Given the description of an element on the screen output the (x, y) to click on. 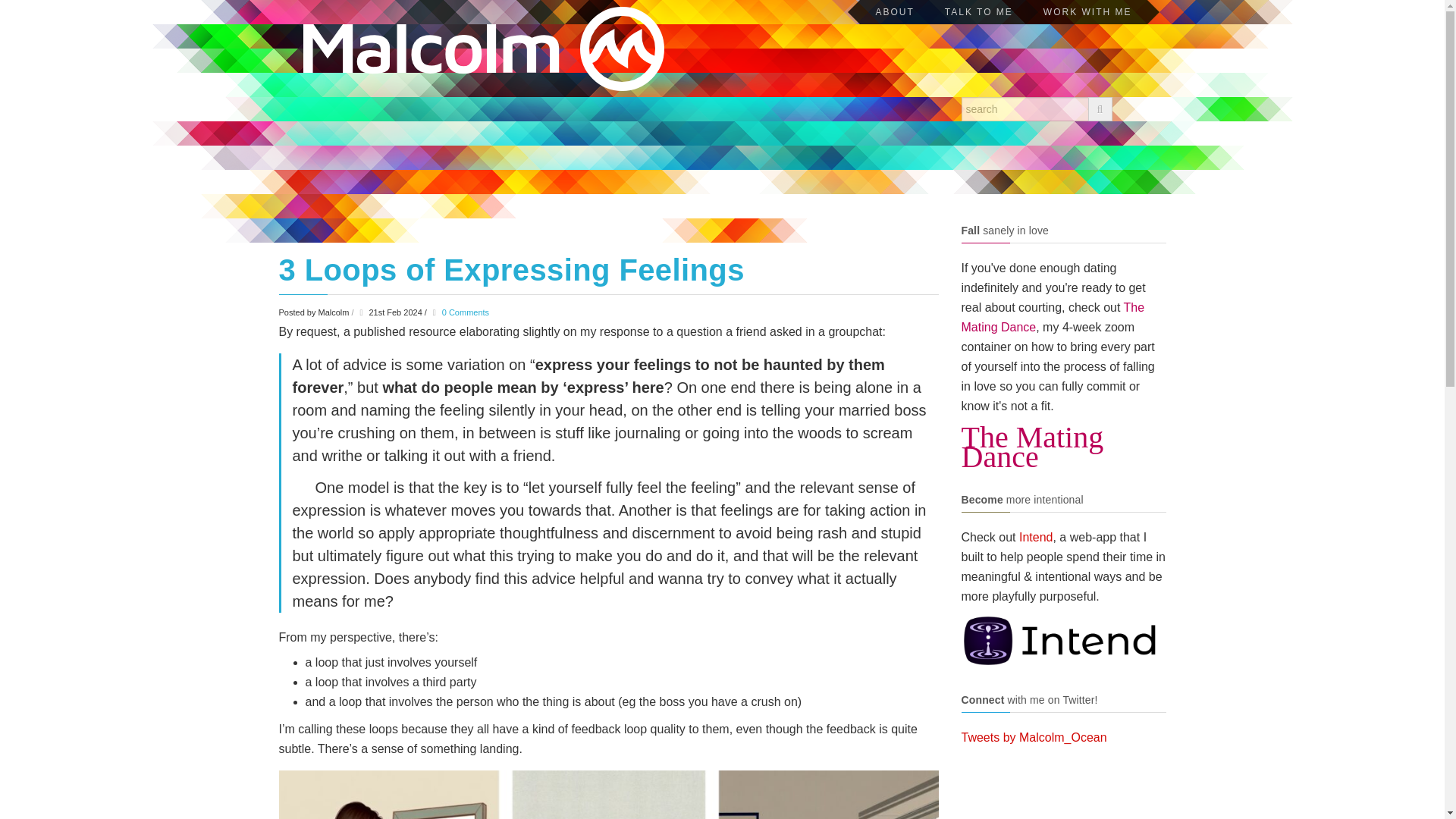
0 Comments (465, 311)
WORK WITH ME (1087, 12)
The Mating Dance (1063, 446)
Intend (1035, 536)
0 Comments (465, 311)
3 Loops of Expressing Feelings (511, 269)
TALK TO ME (978, 12)
ABOUT (894, 12)
The Mating Dance (1052, 317)
